Given the description of an element on the screen output the (x, y) to click on. 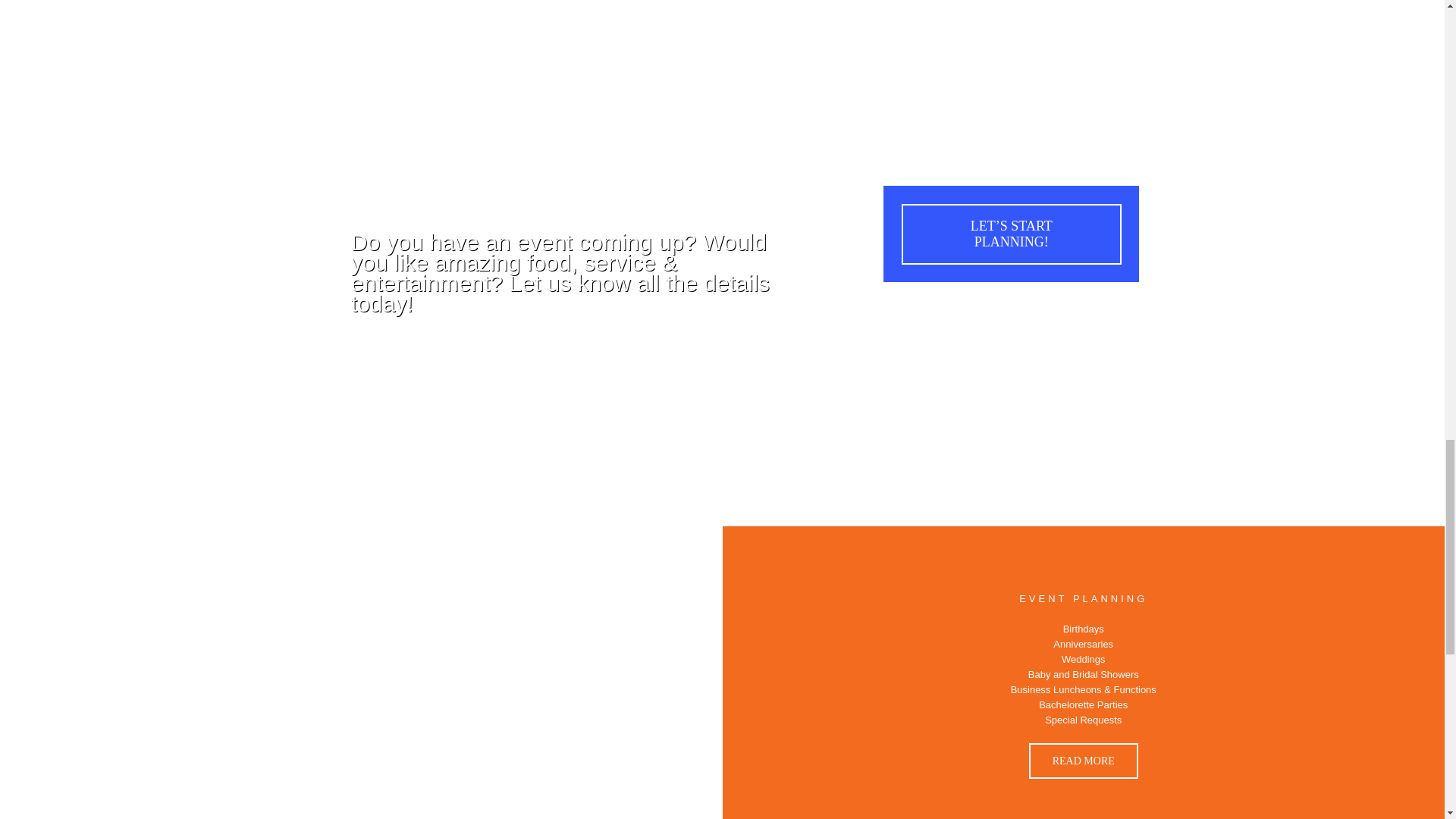
READ MORE (1083, 760)
